Given the description of an element on the screen output the (x, y) to click on. 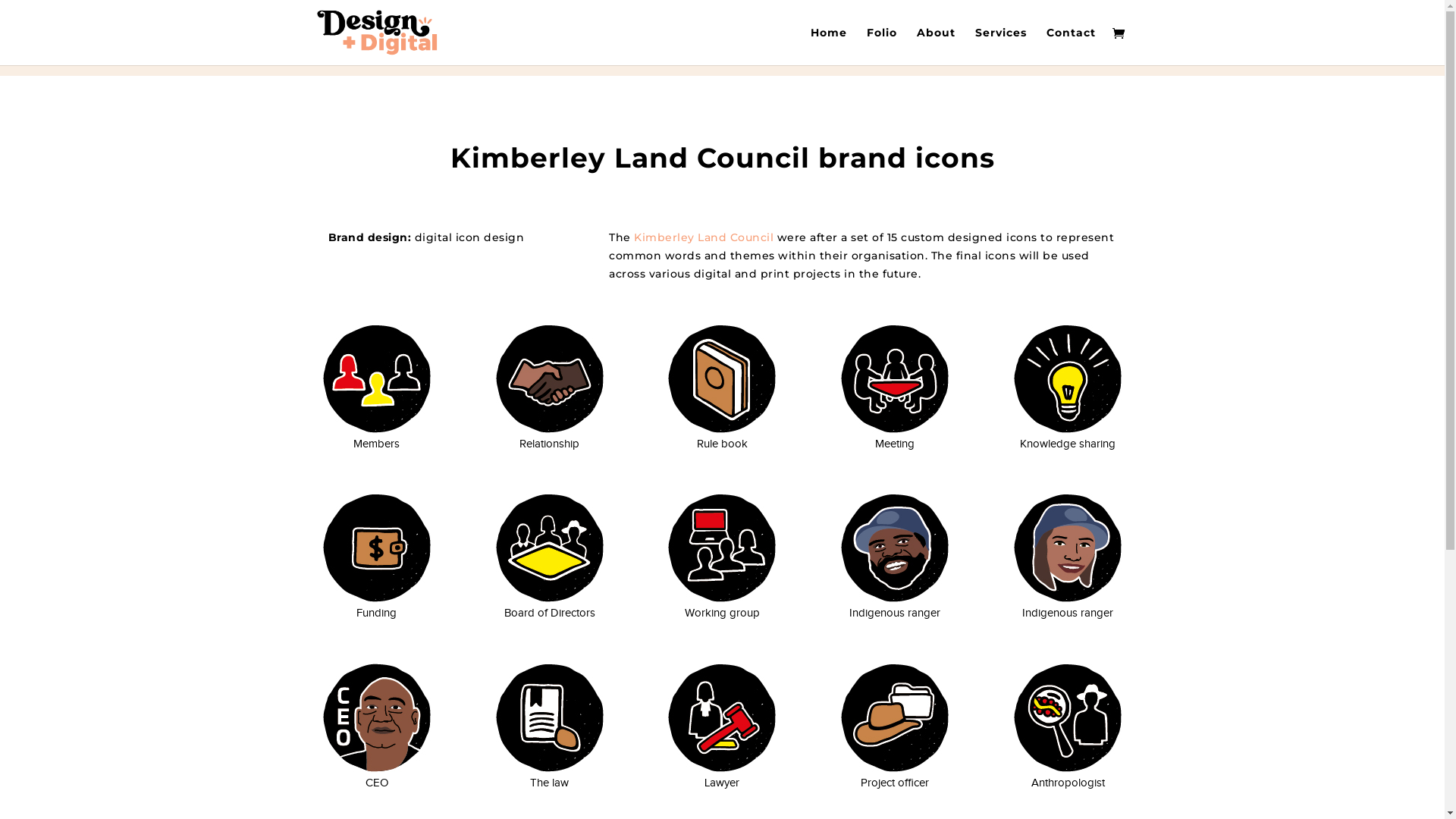
kimberley land council indigenous ranger Element type: hover (1067, 547)
kimberley land council the law Element type: hover (549, 717)
kimberley land council anthropologist Element type: hover (1067, 717)
kimberley land council knowledge sharing Element type: hover (1067, 378)
kimberley land council funding Element type: hover (376, 547)
kimberley land council board of directors Element type: hover (549, 547)
kimberley land council rule book Element type: hover (721, 378)
kimberley land council meeting Element type: hover (894, 378)
kimberley land council ceo Element type: hover (376, 717)
Home Element type: text (827, 46)
kimberley land council working group Element type: hover (721, 547)
Kimberley Land Council Element type: text (703, 237)
Contact Element type: text (1070, 46)
kimberley land council indigenous ranger Element type: hover (894, 547)
Services Element type: text (1000, 46)
kimberley land council relationship Element type: hover (549, 378)
kimberley land council project officer Element type: hover (894, 717)
kimberley land council lawyer Element type: hover (721, 717)
kimberley land council members Element type: hover (376, 378)
About Element type: text (935, 46)
Folio Element type: text (881, 46)
